Given the description of an element on the screen output the (x, y) to click on. 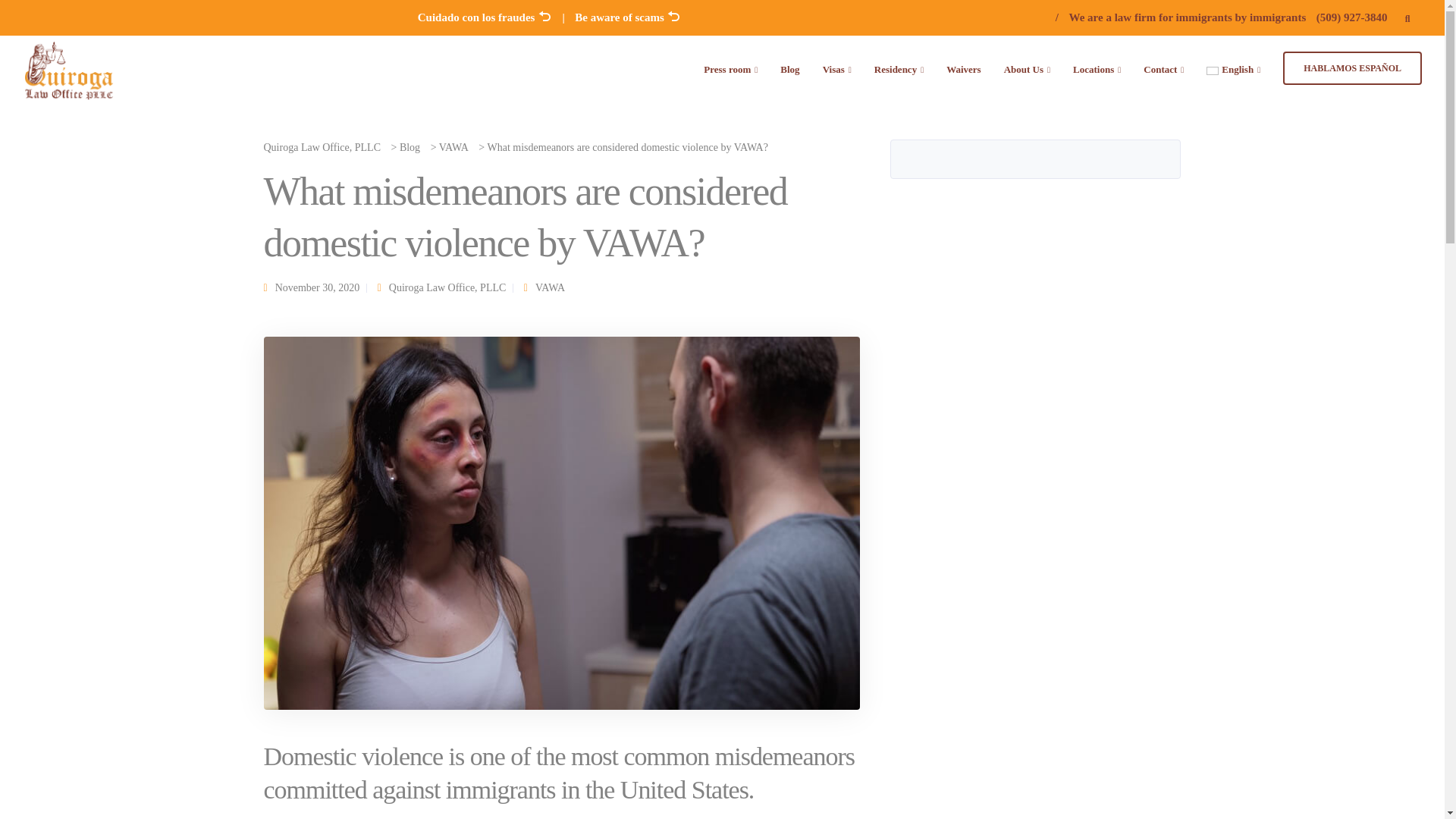
About Us (1026, 68)
Press room (730, 68)
Waivers (963, 68)
Be aware of scams (628, 17)
Press room (730, 68)
Waivers (963, 68)
Visas (836, 68)
Residency (898, 68)
Residency (898, 68)
About Us (1026, 68)
Locations (1096, 68)
We are a law firm for immigrants by immigrants (1187, 17)
Visas (836, 68)
Cuidado con los fraudes (484, 17)
